Given the description of an element on the screen output the (x, y) to click on. 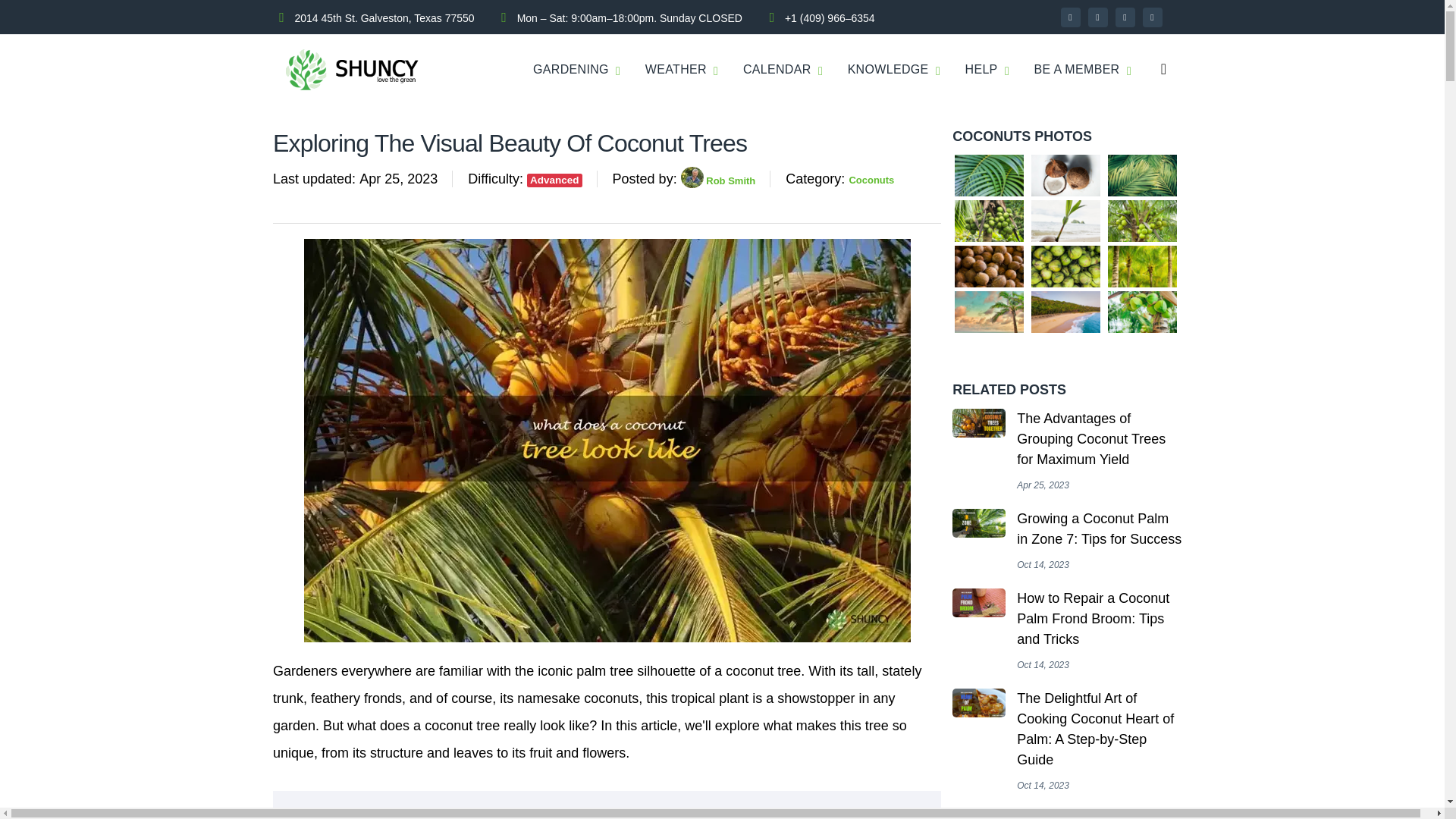
CALENDAR (776, 69)
BE A MEMBER (1076, 69)
2014 45th St. Galveston, Texas 77550 (384, 18)
HELP (981, 69)
GARDENING (570, 69)
KNOWLEDGE (887, 69)
WEATHER (675, 69)
